Given the description of an element on the screen output the (x, y) to click on. 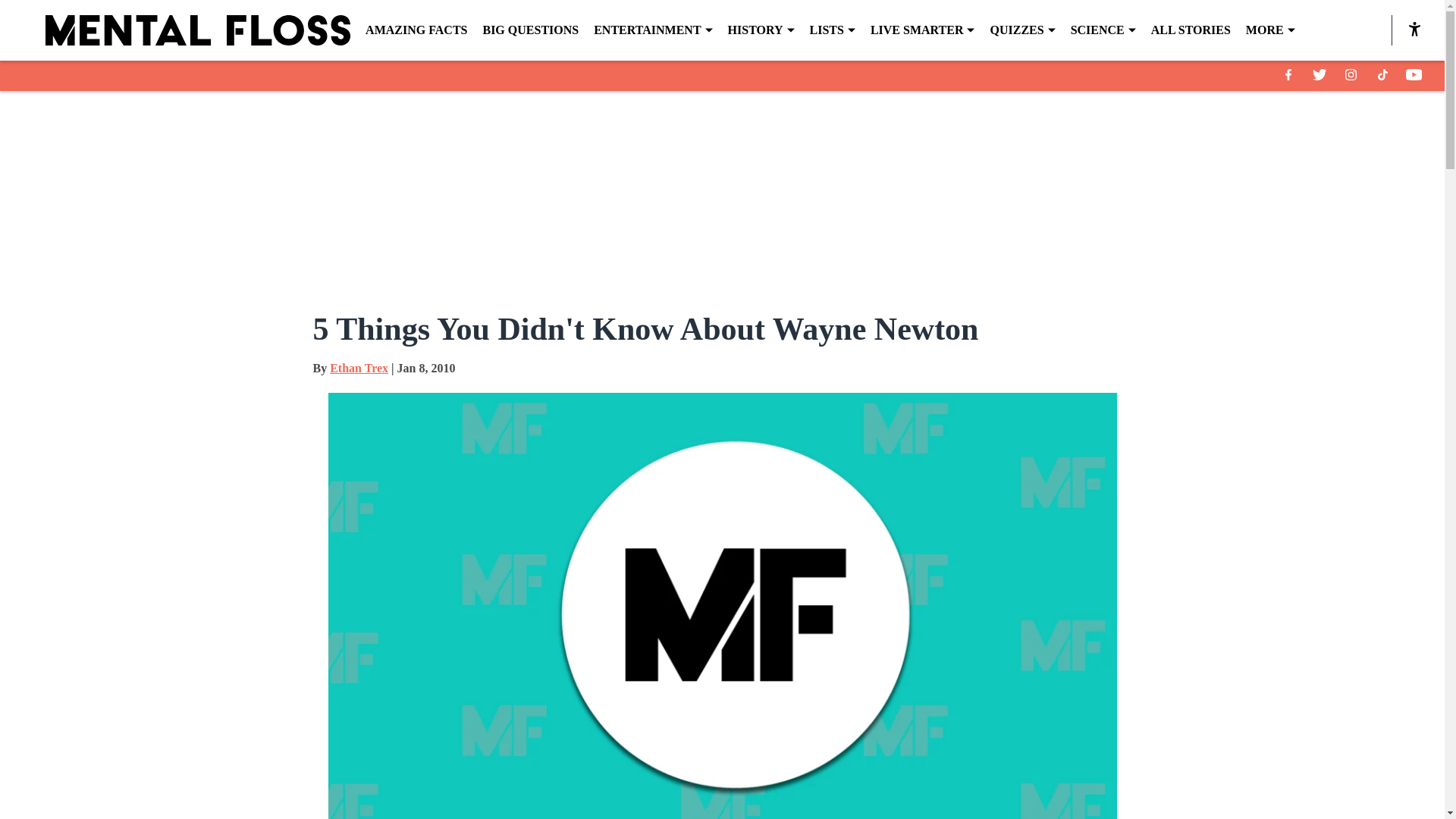
MORE (1270, 30)
BIG QUESTIONS (529, 30)
AMAZING FACTS (416, 30)
ALL STORIES (1190, 30)
